Given the description of an element on the screen output the (x, y) to click on. 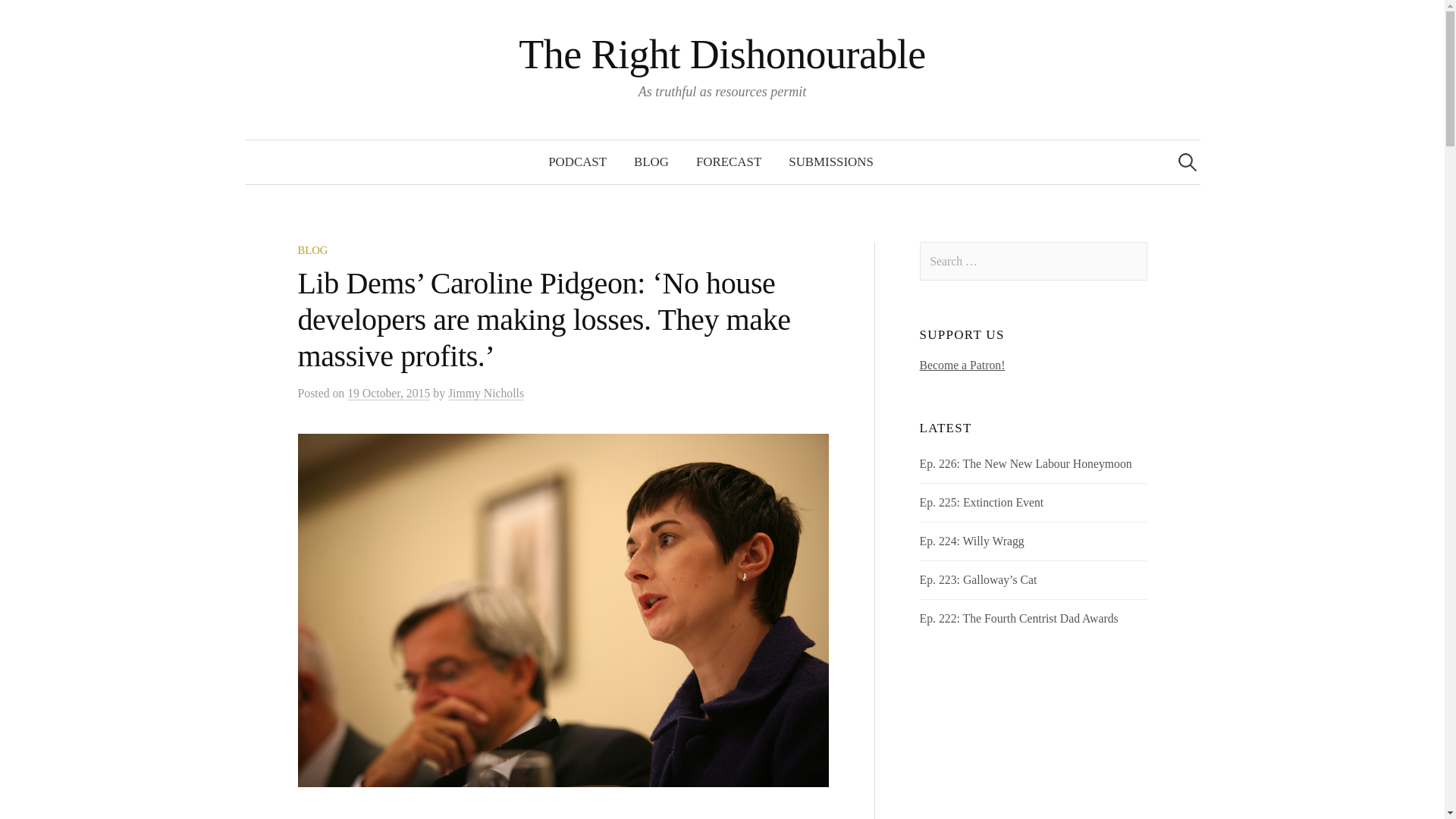
Ep. 226: The New New Labour Honeymoon (1026, 463)
19 October, 2015 (388, 393)
Become a Patron! (963, 364)
Search (40, 18)
SUBMISSIONS (830, 162)
Search (18, 18)
Ep. 222: The Fourth Centrist Dad Awards (1019, 617)
Jimmy Nicholls (486, 393)
Ep. 225: Extinction Event (981, 502)
BLOG (651, 162)
